Given the description of an element on the screen output the (x, y) to click on. 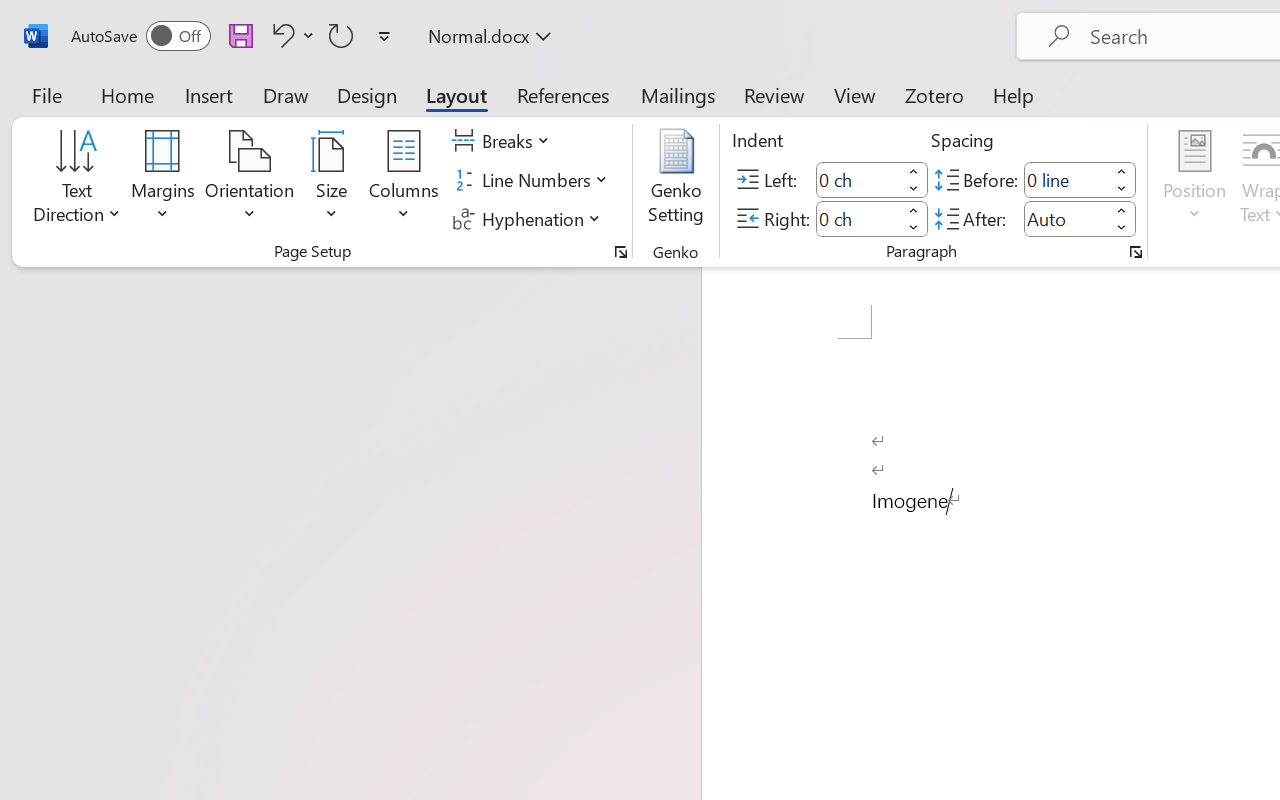
Undo Paragraph Formatting (290, 35)
Breaks (504, 141)
Columns (404, 179)
Page Setup... (621, 252)
Spacing After (1066, 218)
Help (1013, 94)
Genko Setting... (676, 179)
Line Numbers (532, 179)
Text Direction (77, 179)
Less (1121, 227)
Paragraph... (1135, 252)
